Given the description of an element on the screen output the (x, y) to click on. 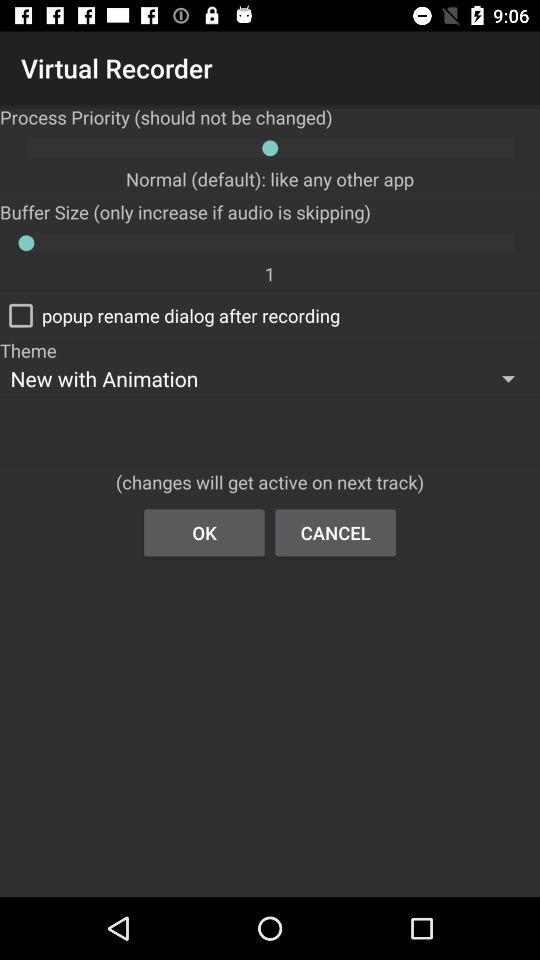
swipe to ok button (204, 532)
